Given the description of an element on the screen output the (x, y) to click on. 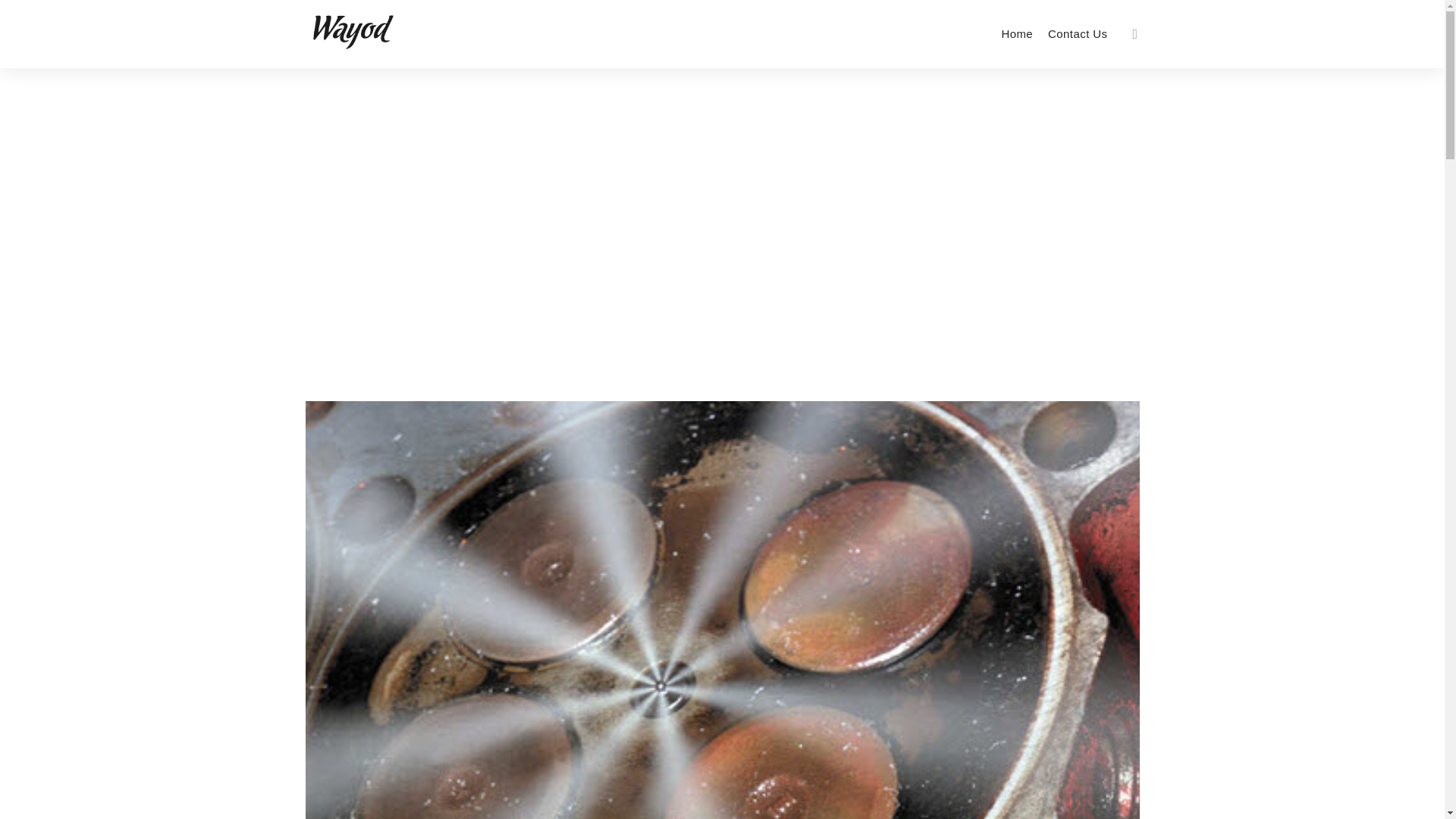
Contact Us (1078, 33)
Home (1016, 33)
Home (1016, 33)
Contact Us (1078, 33)
